Given the description of an element on the screen output the (x, y) to click on. 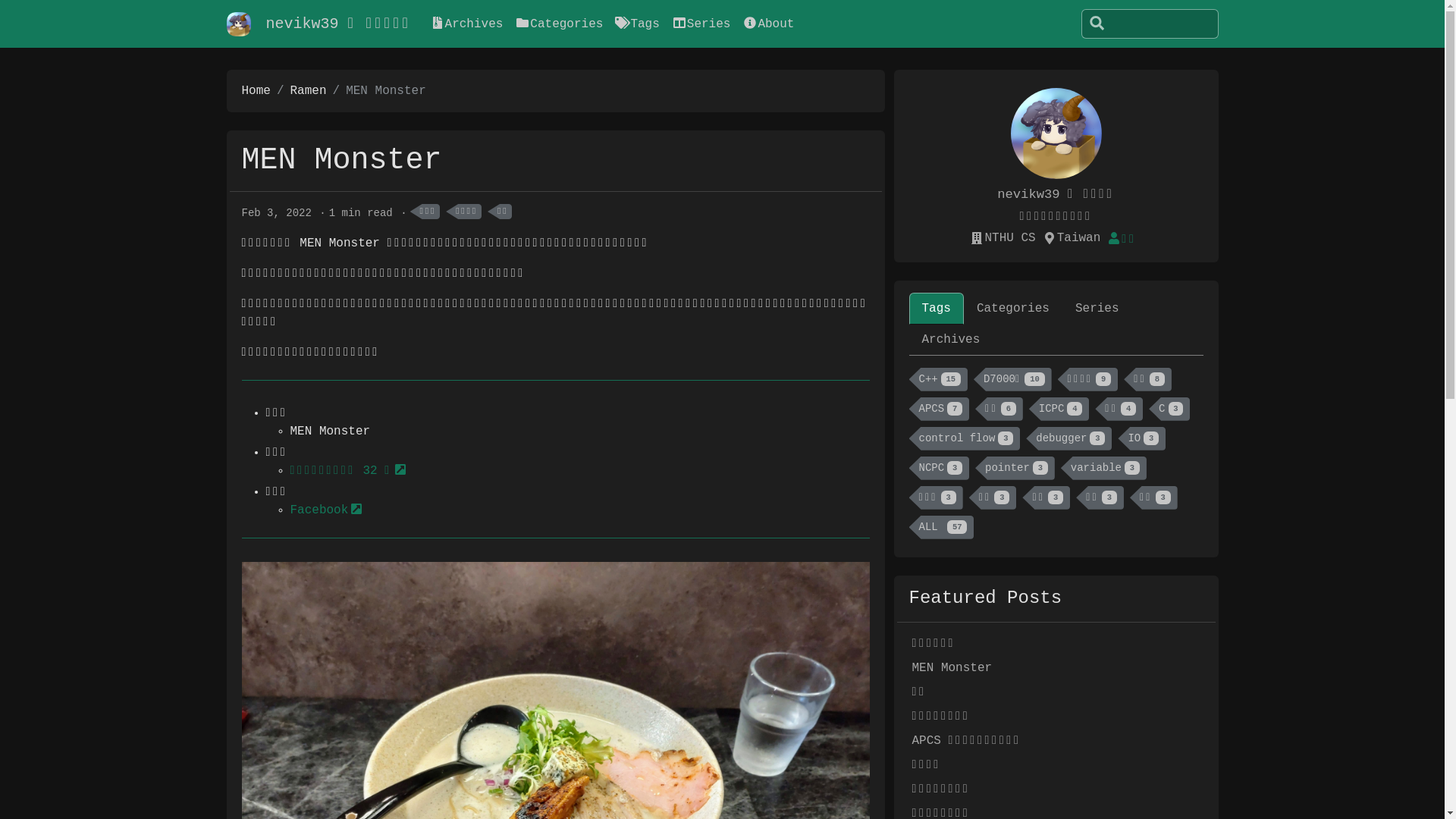
IO3 Element type: text (1141, 438)
Home Element type: text (255, 90)
Tags Element type: text (935, 308)
variable3 Element type: text (1103, 468)
Archives Element type: text (466, 24)
Categories Element type: text (558, 24)
control flow3 Element type: text (963, 438)
ICPC4 Element type: text (1059, 408)
APCS7 Element type: text (938, 408)
debugger3 Element type: text (1068, 438)
Series Element type: text (1097, 308)
C++15 Element type: text (937, 379)
Ramen Element type: text (308, 90)
About Element type: text (768, 24)
Series Element type: text (701, 24)
Tags Element type: text (636, 24)
Facebook Element type: text (325, 510)
ALL 57 Element type: text (940, 527)
NCPC3 Element type: text (938, 468)
Categories Element type: text (1012, 308)
pointer3 Element type: text (1014, 468)
C3 Element type: text (1168, 408)
Archives Element type: text (950, 339)
MEN Monster Element type: text (951, 667)
